Given the description of an element on the screen output the (x, y) to click on. 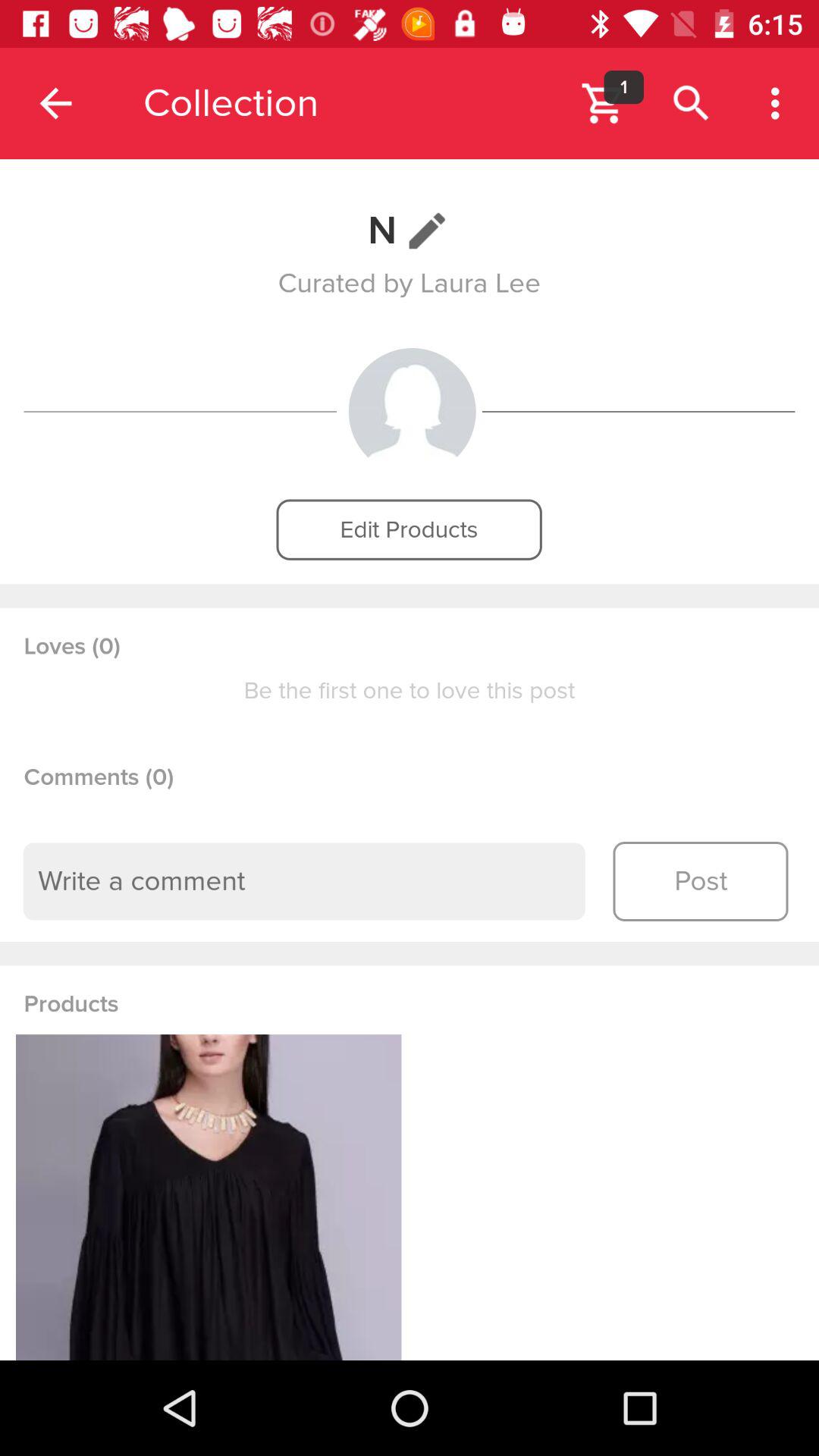
choose the icon to the right of the collection item (603, 103)
